Given the description of an element on the screen output the (x, y) to click on. 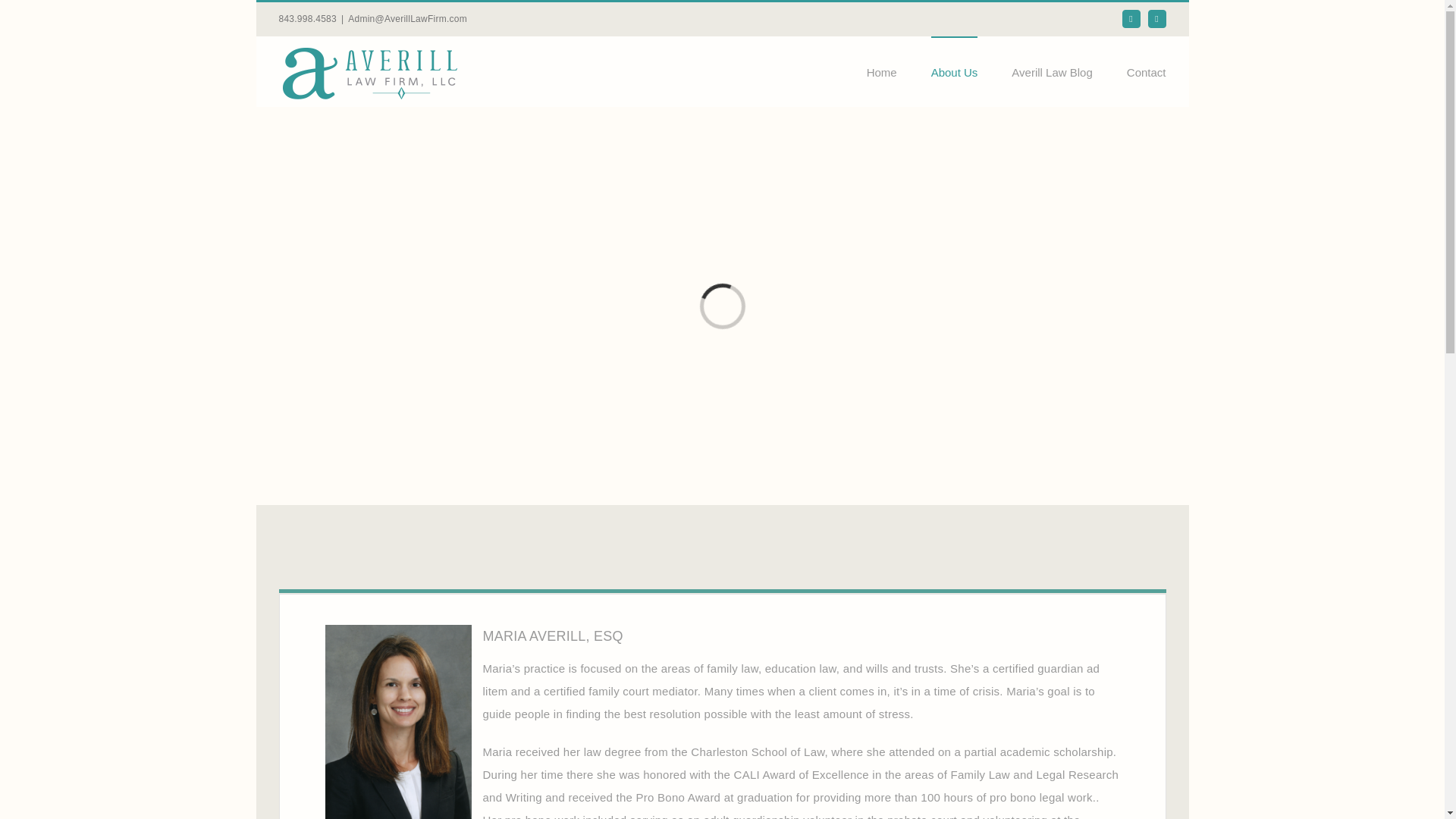
Averill Law Blog (1051, 71)
Facebook (1131, 18)
Facebook (1131, 18)
LinkedIn (1157, 18)
LinkedIn (1157, 18)
